Given the description of an element on the screen output the (x, y) to click on. 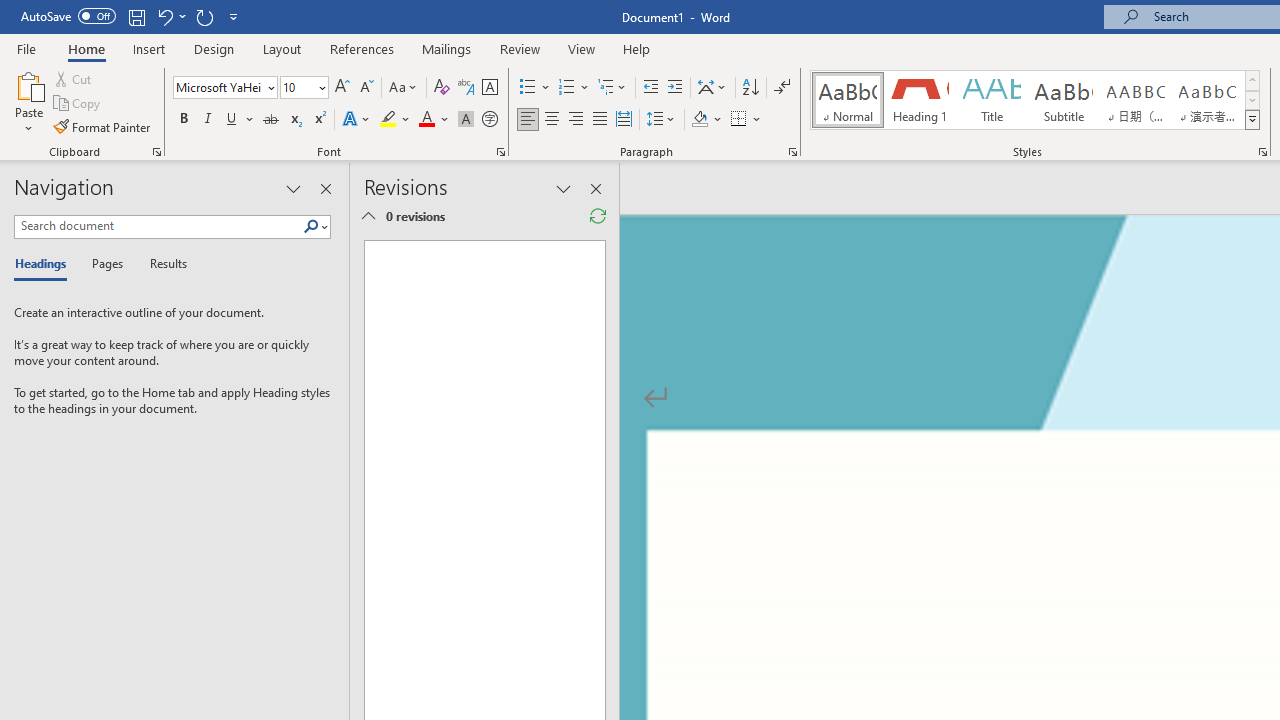
Subtitle (1063, 100)
Repeat Doc Close (204, 15)
